Given the description of an element on the screen output the (x, y) to click on. 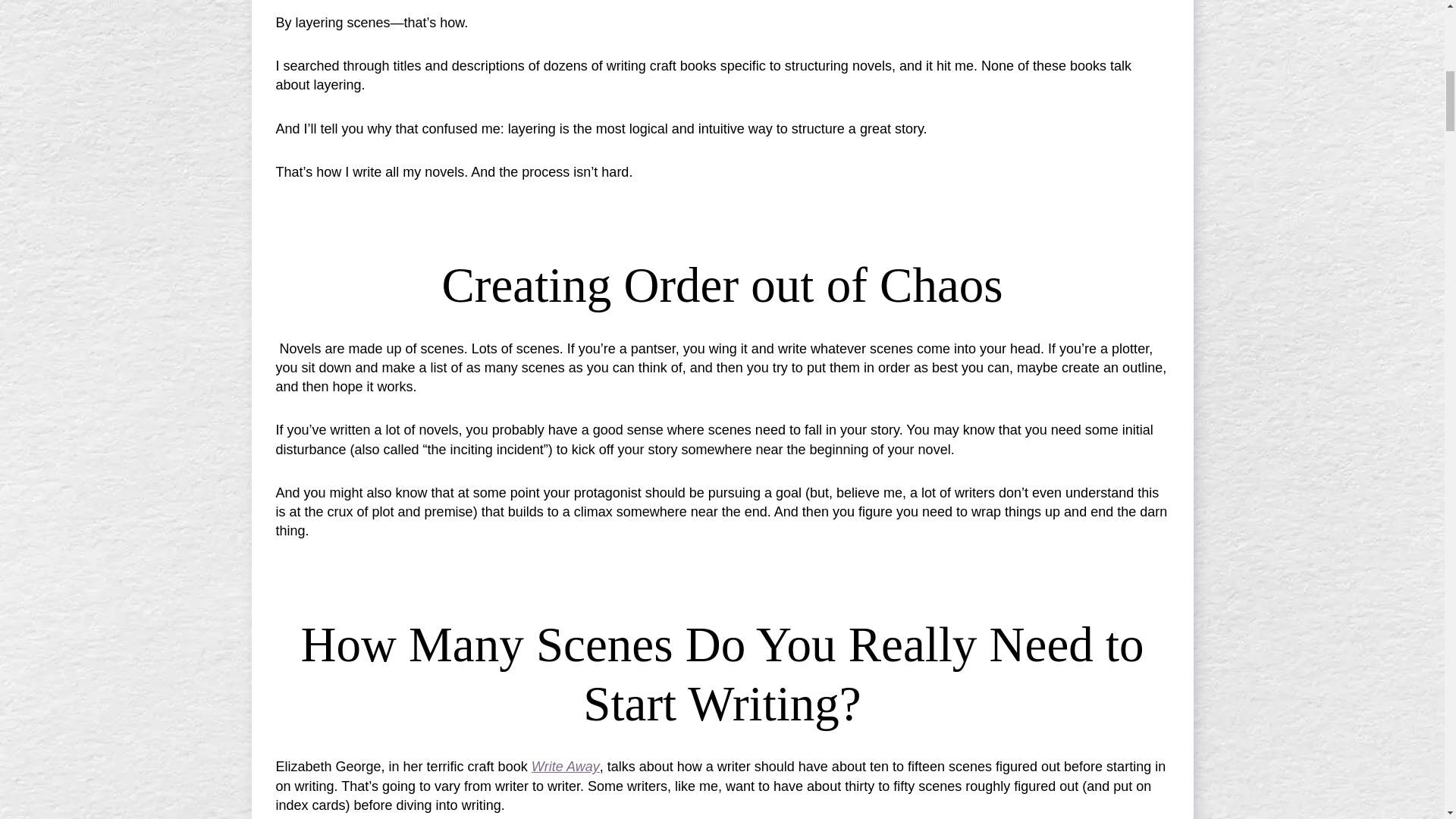
Write Away (565, 766)
